Given the description of an element on the screen output the (x, y) to click on. 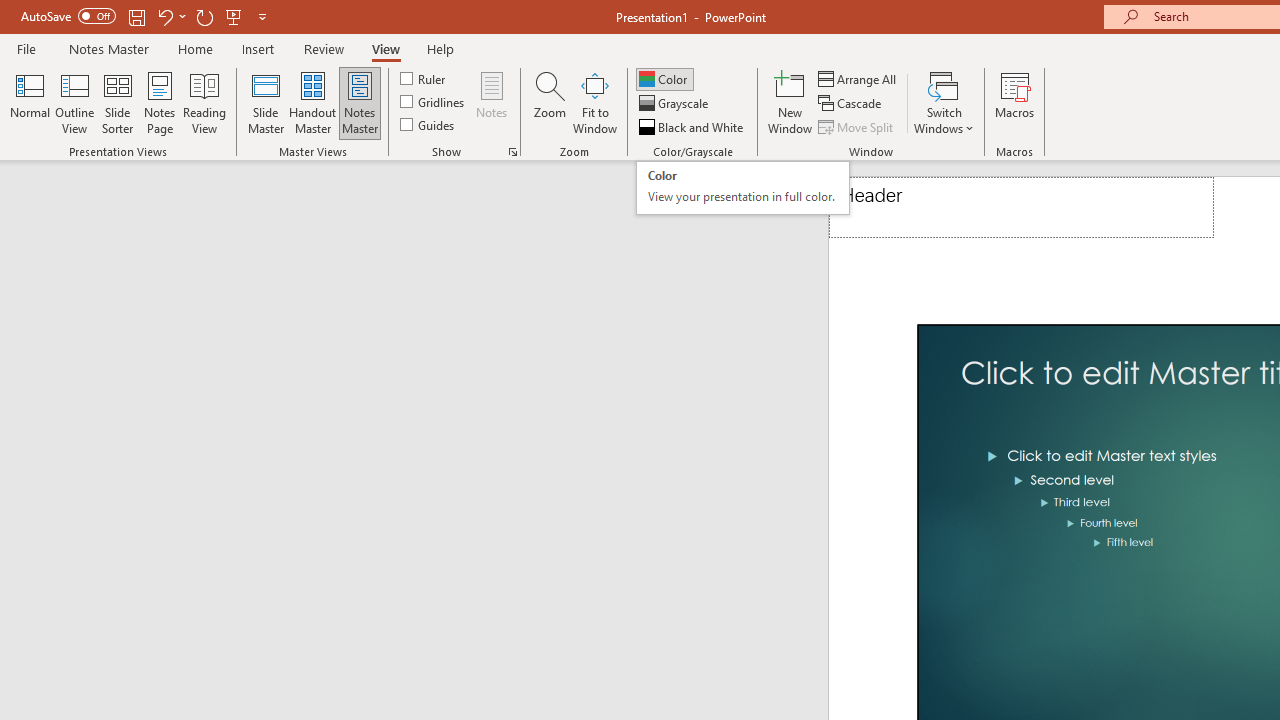
Arrange All (858, 78)
Guides (428, 124)
Notes Page (159, 102)
Notes Master (360, 102)
Zoom... (549, 102)
